Given the description of an element on the screen output the (x, y) to click on. 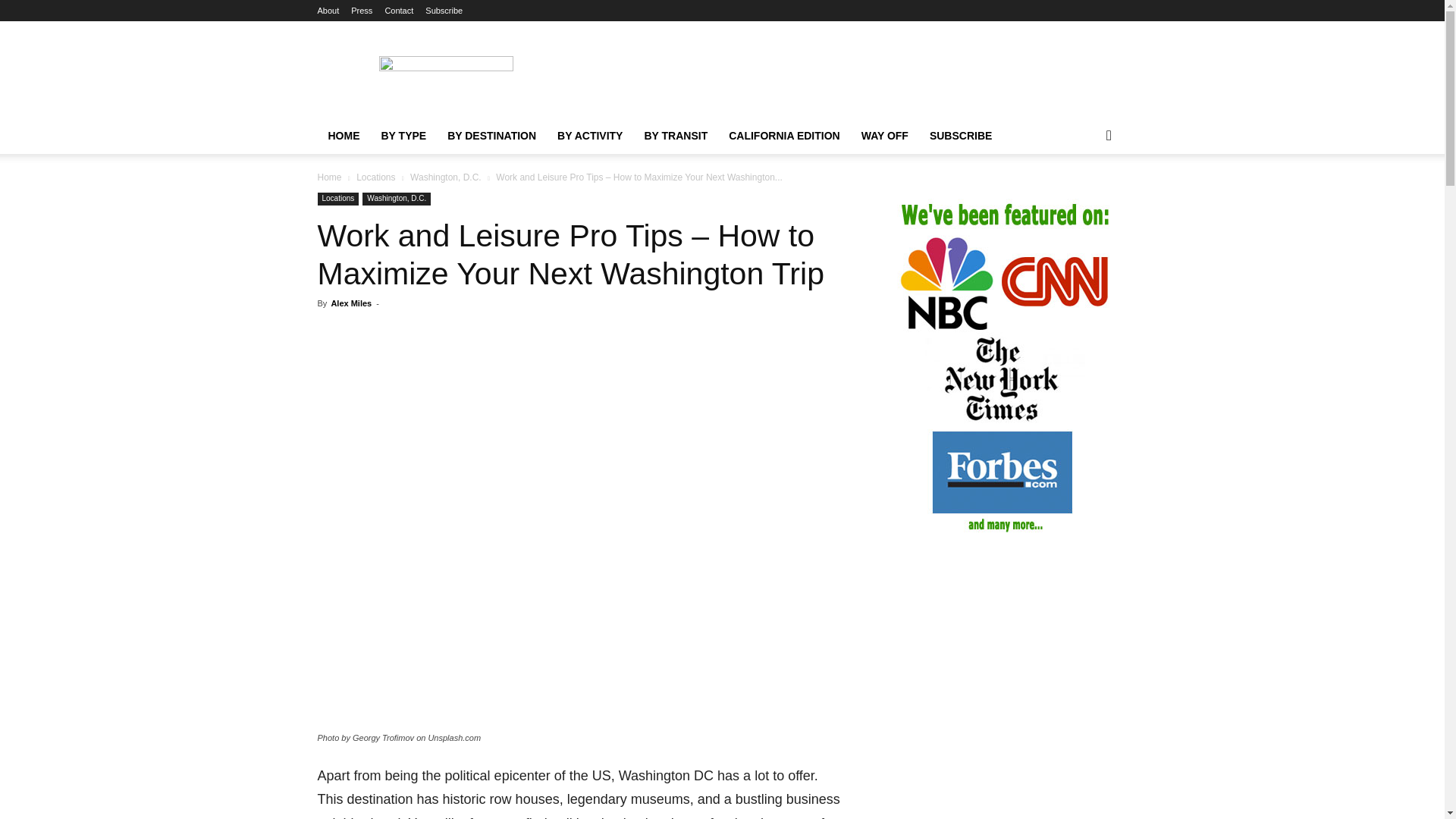
View all posts in Locations (375, 176)
Subscribe (444, 10)
Press (361, 10)
About (328, 10)
Contact (398, 10)
View all posts in Washington, D.C. (445, 176)
